Given the description of an element on the screen output the (x, y) to click on. 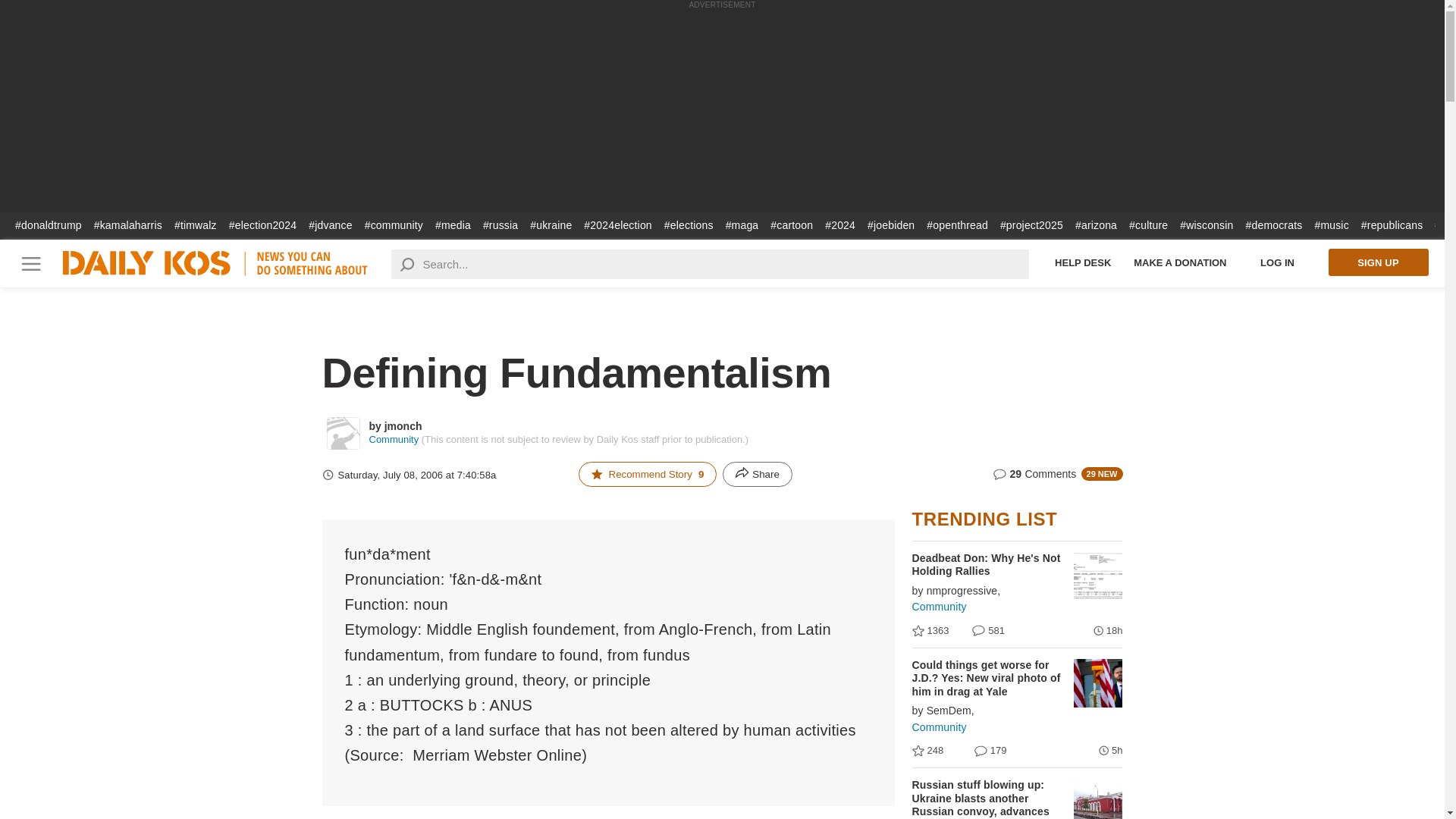
Make a Donation (1179, 262)
Help Desk (1082, 262)
MAKE A DONATION (1179, 262)
